Given the description of an element on the screen output the (x, y) to click on. 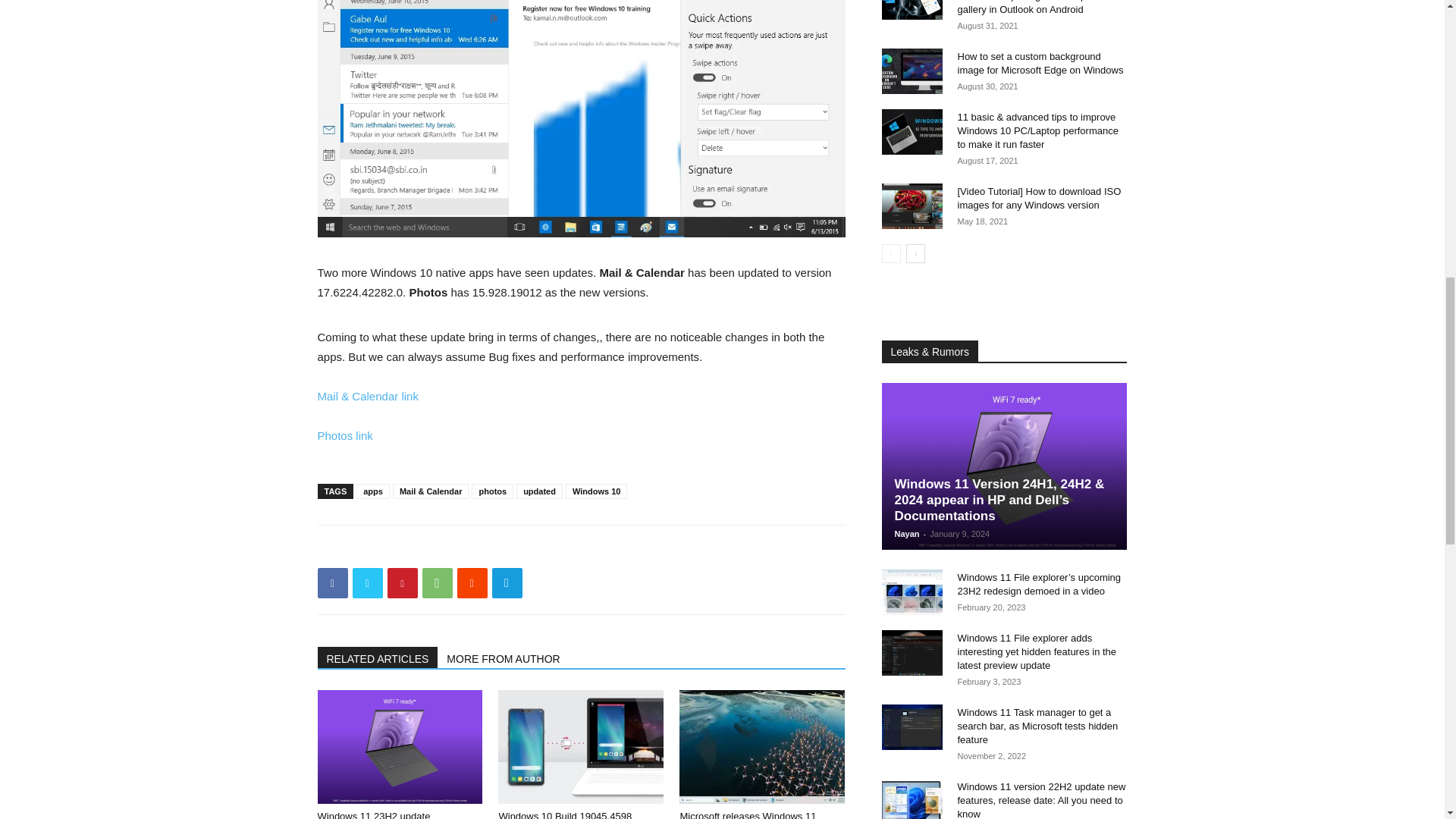
Photos link (344, 435)
bottomFacebookLike (430, 549)
Facebook (332, 583)
Twitter (366, 583)
Pinterest (401, 583)
